Given the description of an element on the screen output the (x, y) to click on. 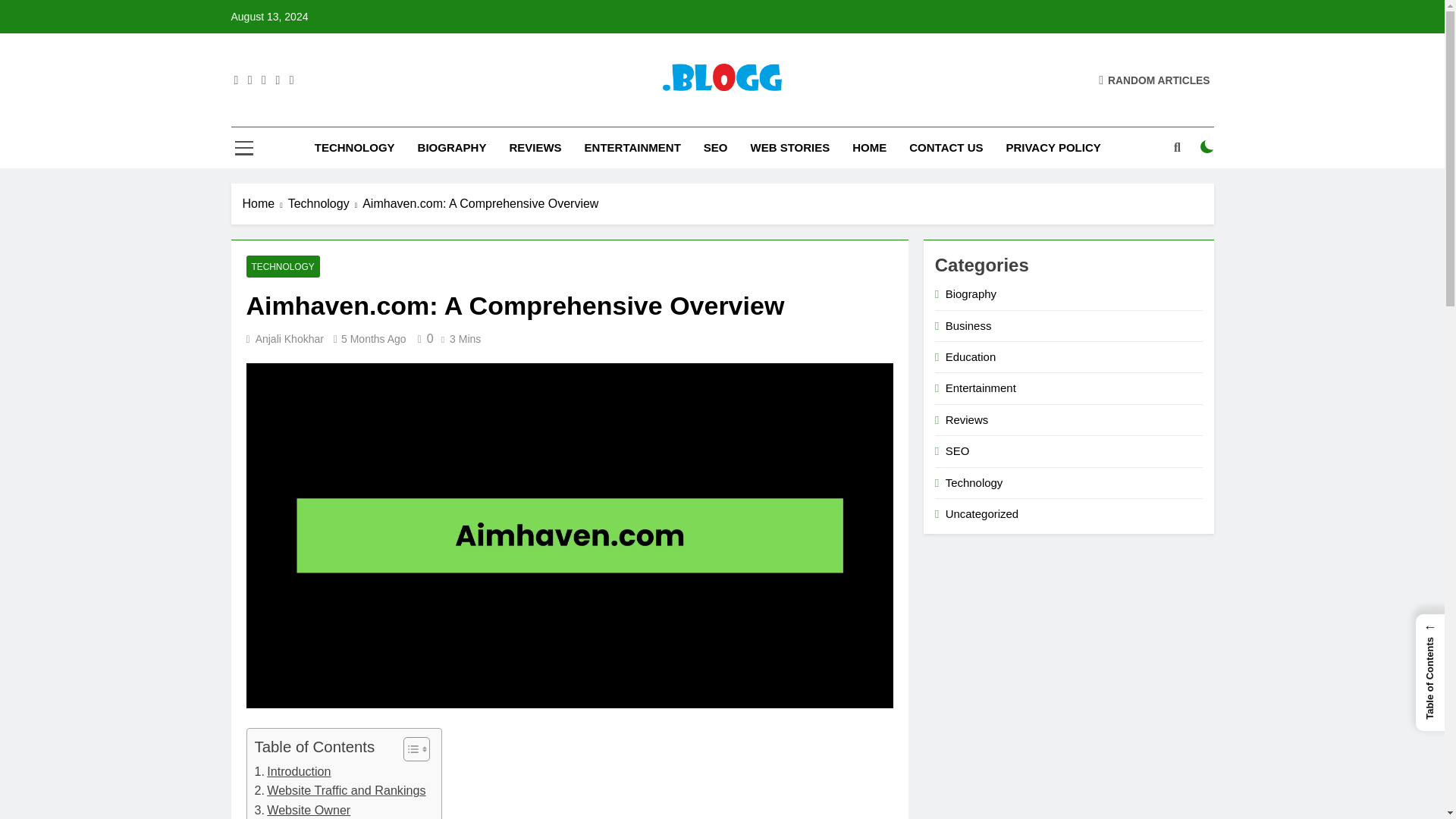
ENTERTAINMENT (633, 147)
on (1206, 146)
CONTACT US (946, 147)
TECHNOLOGY (282, 266)
REVIEWS (534, 147)
Introduction (292, 772)
HOME (869, 147)
Anjali Khokhar (289, 338)
Technology (325, 203)
Website Owner (302, 809)
